Given the description of an element on the screen output the (x, y) to click on. 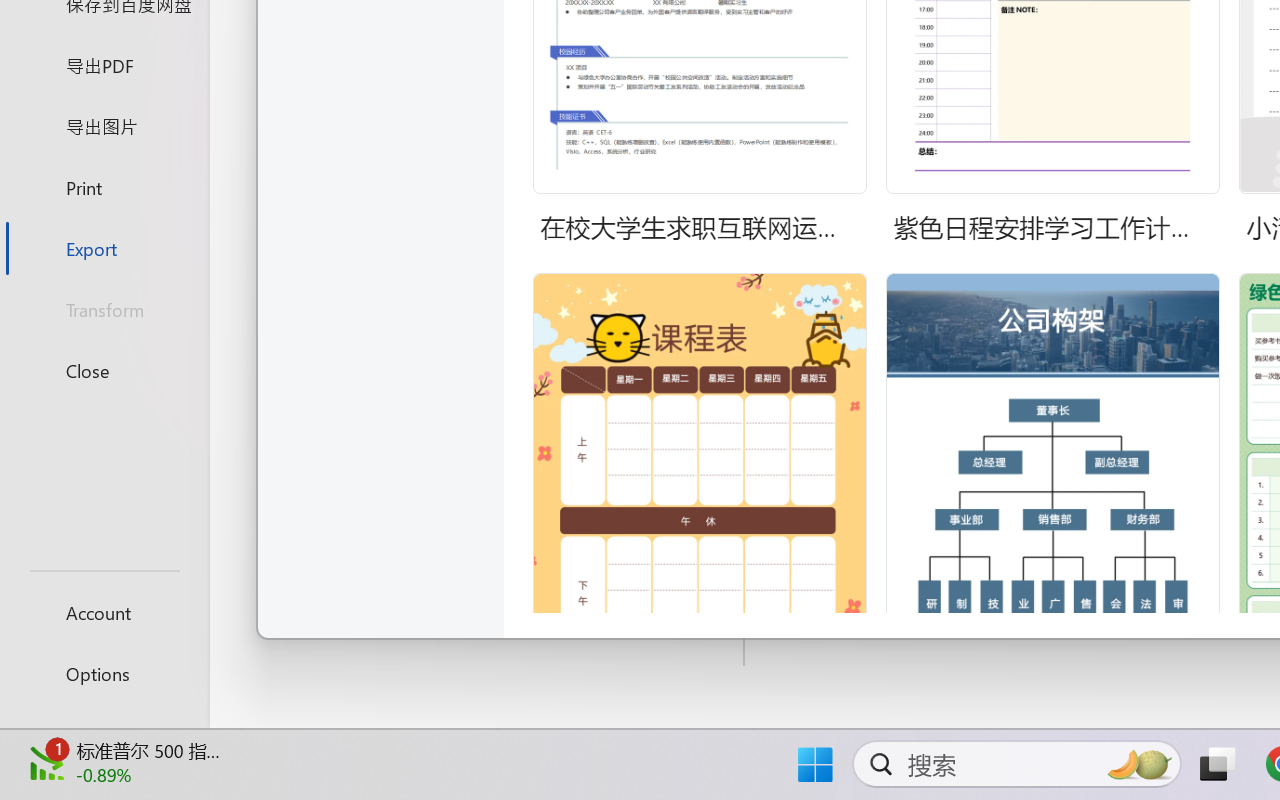
Account (104, 612)
Transform (104, 309)
Options (104, 673)
Export (104, 248)
